Given the description of an element on the screen output the (x, y) to click on. 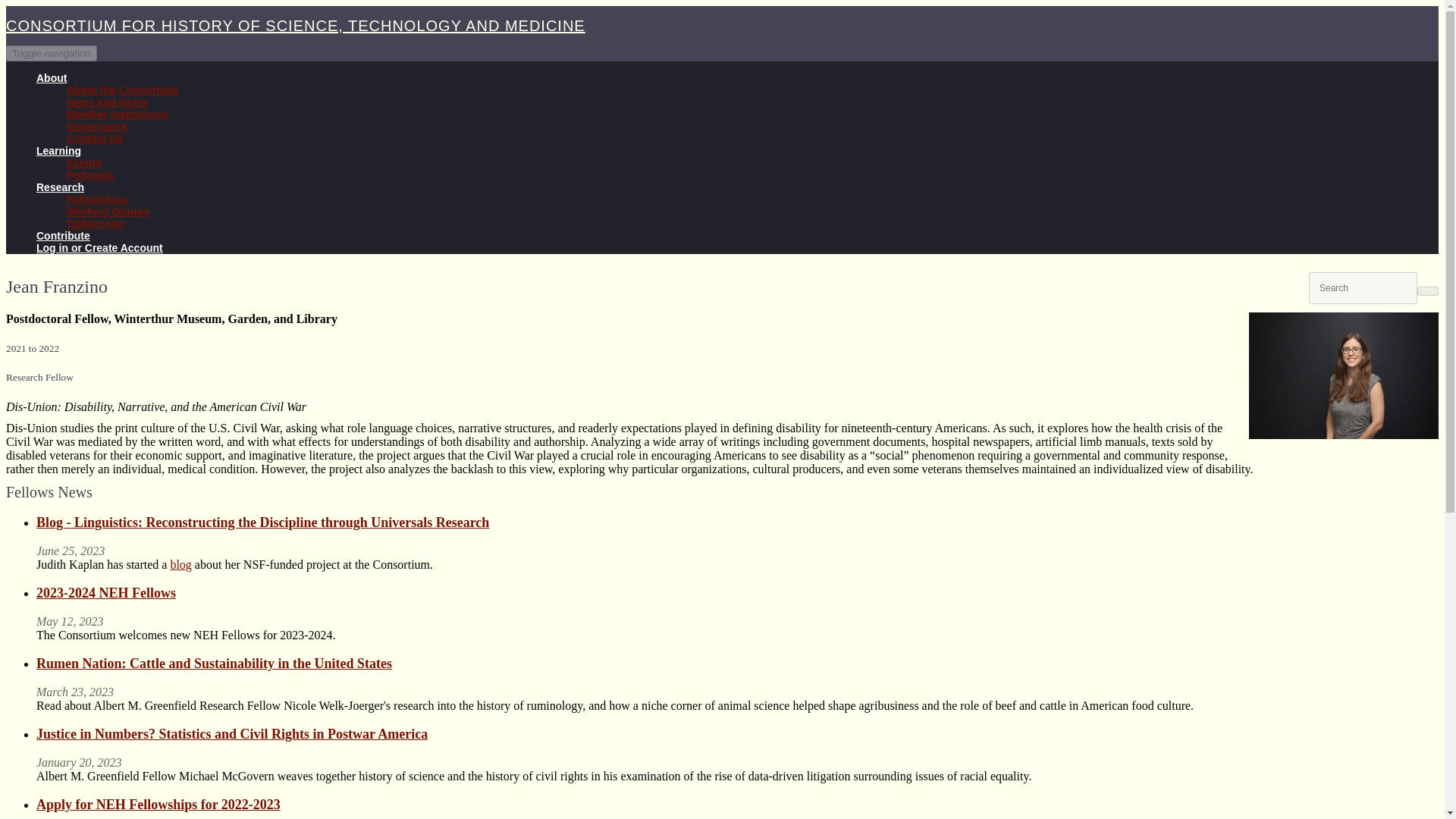
About (51, 78)
2023-2024 NEH Fellows (106, 592)
Home (295, 25)
Apply for NEH Fellowships for 2022-2023 (158, 804)
Log in or Create Account (99, 247)
Rumen Nation: Cattle and Sustainability in the United States (213, 663)
Working Groups (107, 211)
Learning (58, 150)
Search (1319, 307)
blog (180, 563)
Events (83, 162)
CONSORTIUM FOR HISTORY OF SCIENCE, TECHNOLOGY AND MEDICINE (295, 25)
Enter the terms you wish to search for. (1362, 287)
Toggle navigation (51, 53)
